Given the description of an element on the screen output the (x, y) to click on. 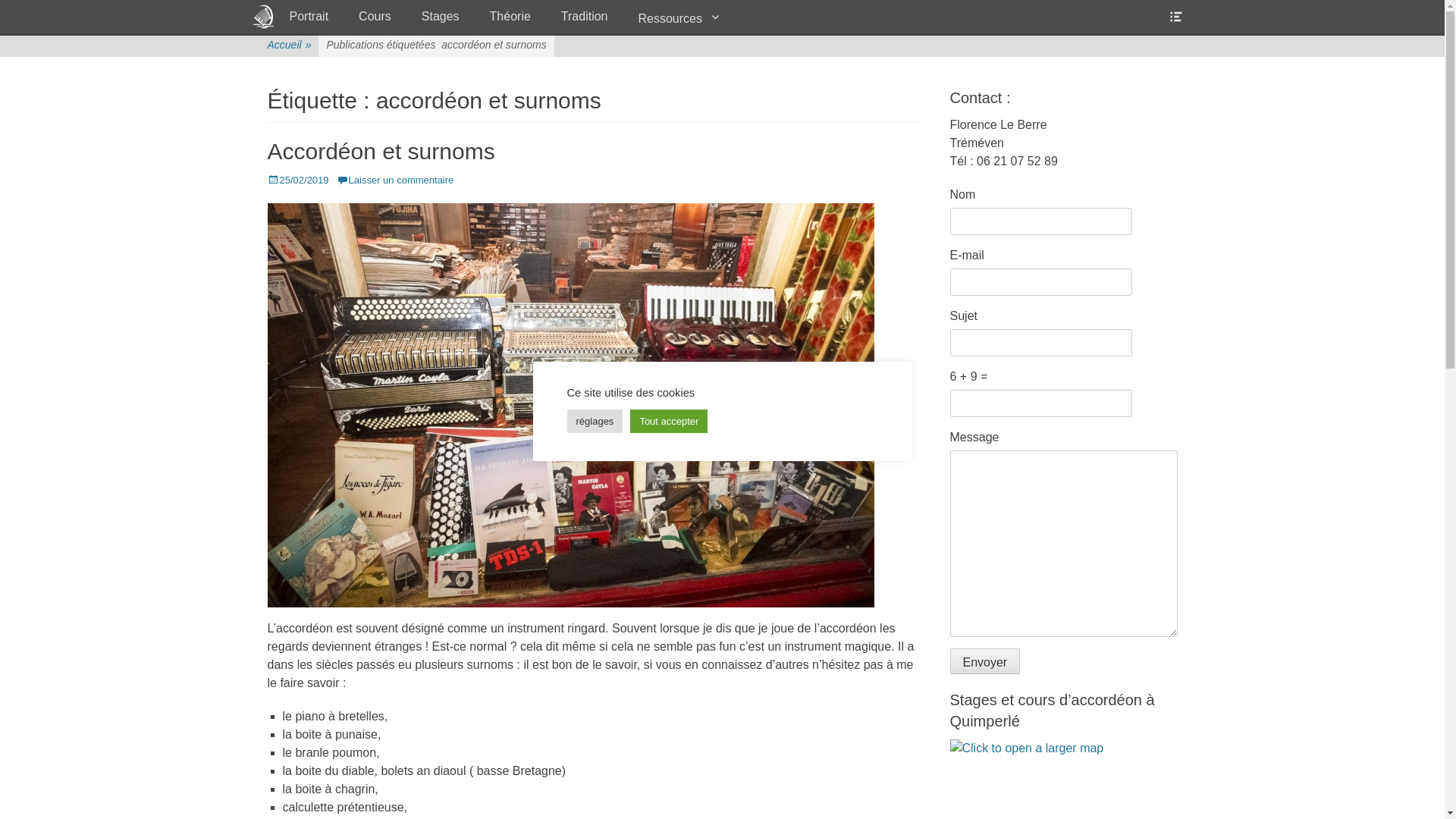
Tout accepter Element type: text (668, 421)
Portrait Element type: text (309, 16)
Rechercher Element type: text (33, 9)
Envoyer Element type: text (984, 661)
Stages Element type: text (440, 16)
25/02/2019 Element type: text (297, 179)
Laisser un commentaire Element type: text (395, 179)
Tradition Element type: text (584, 16)
Click to open a larger map Element type: hover (1026, 748)
Cours Element type: text (374, 16)
Ressources Element type: text (679, 17)
